Given the description of an element on the screen output the (x, y) to click on. 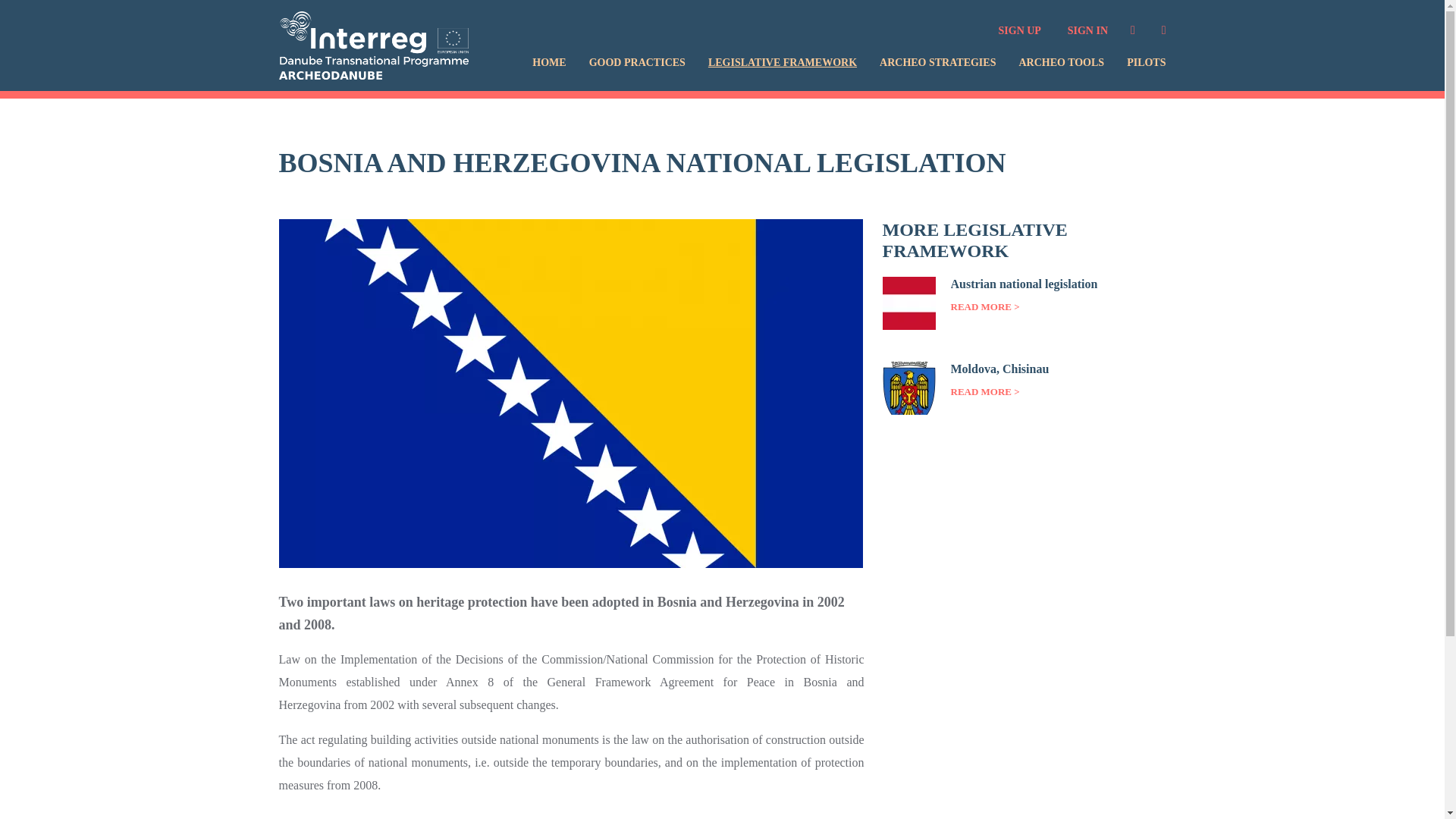
ARCHEO TOOLS (1060, 62)
GOOD PRACTICES (637, 62)
SIGN IN (1087, 30)
HOME (549, 62)
PILOTS (1146, 62)
SIGN UP (1019, 30)
LEGISLATIVE FRAMEWORK (782, 62)
ARCHEO STRATEGIES (937, 62)
